Given the description of an element on the screen output the (x, y) to click on. 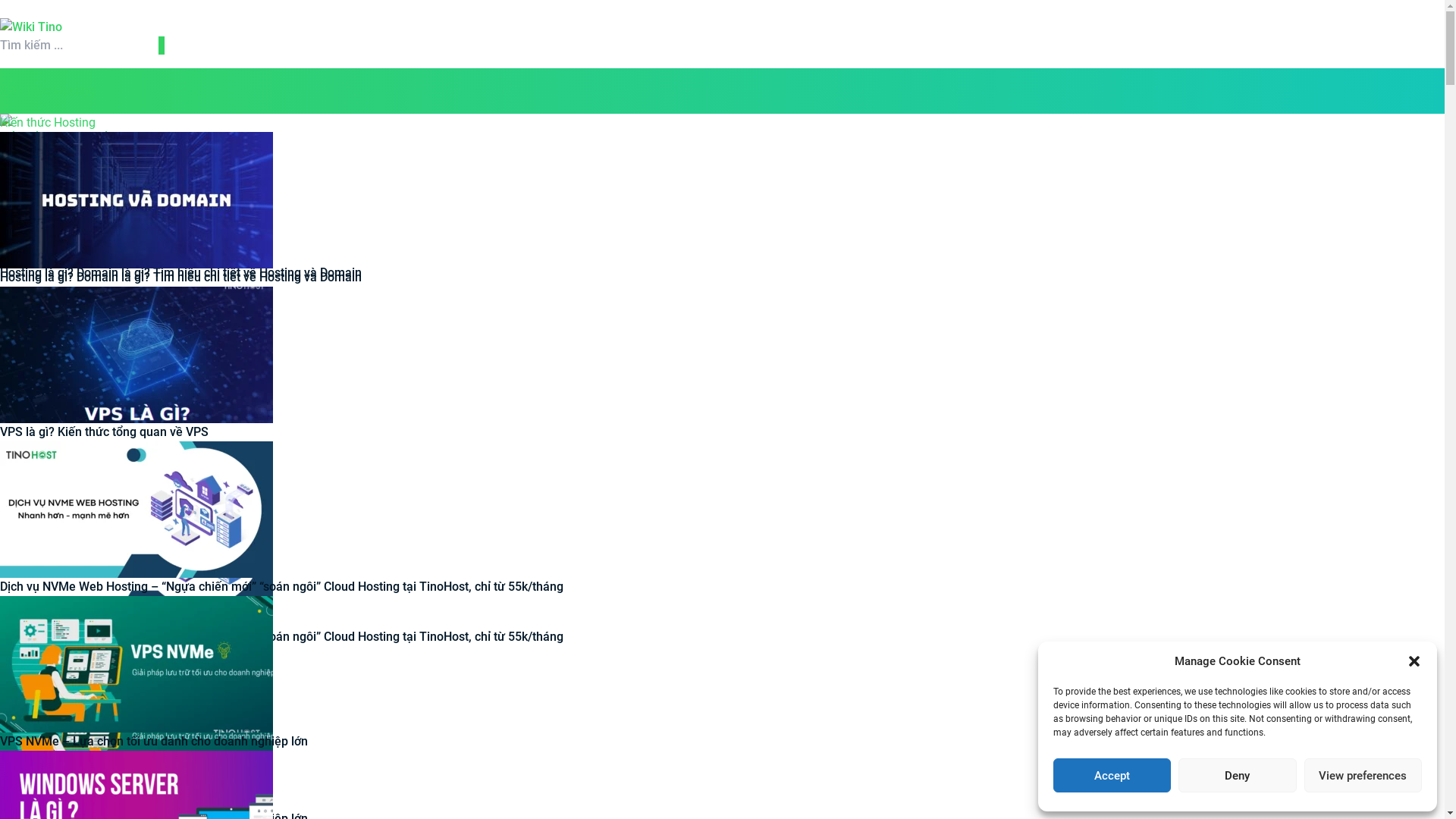
View preferences Element type: text (1362, 775)
Deny Element type: text (1236, 775)
Accept Element type: text (1111, 775)
